Given the description of an element on the screen output the (x, y) to click on. 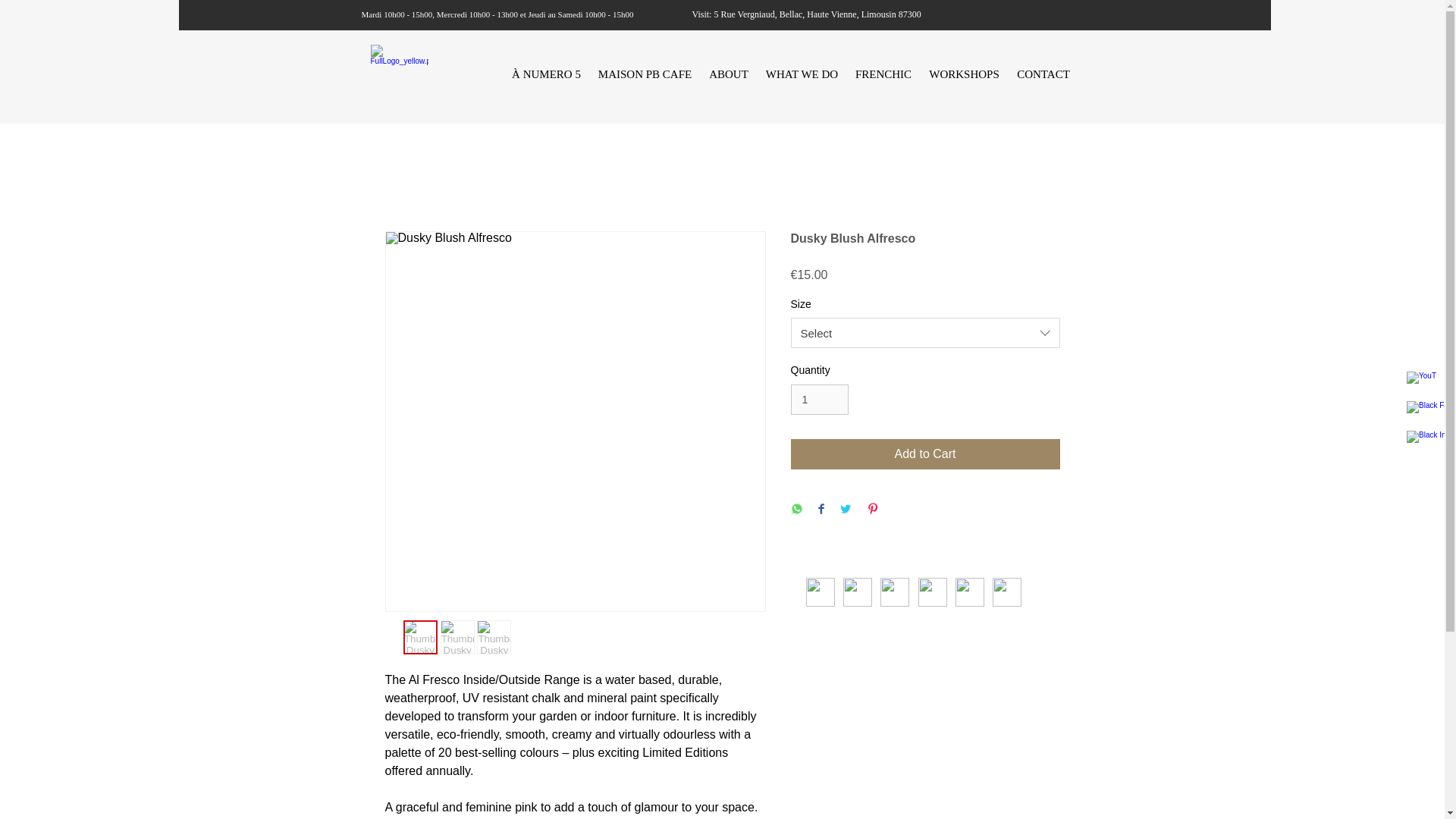
VictoryLane.png (819, 592)
VictoryLane.png (931, 592)
WHAT WE DO (801, 74)
WORKSHOPS (964, 74)
Select (924, 332)
VictoryLane.png (857, 592)
MAISON PB CAFE (644, 74)
VictoryLane.png (893, 592)
ABOUT (728, 74)
Add to Cart (924, 453)
FRENCHIC (882, 74)
VictoryLane.png (969, 592)
VictoryLane.png (1005, 592)
1 (818, 399)
CONTACT (1043, 74)
